Given the description of an element on the screen output the (x, y) to click on. 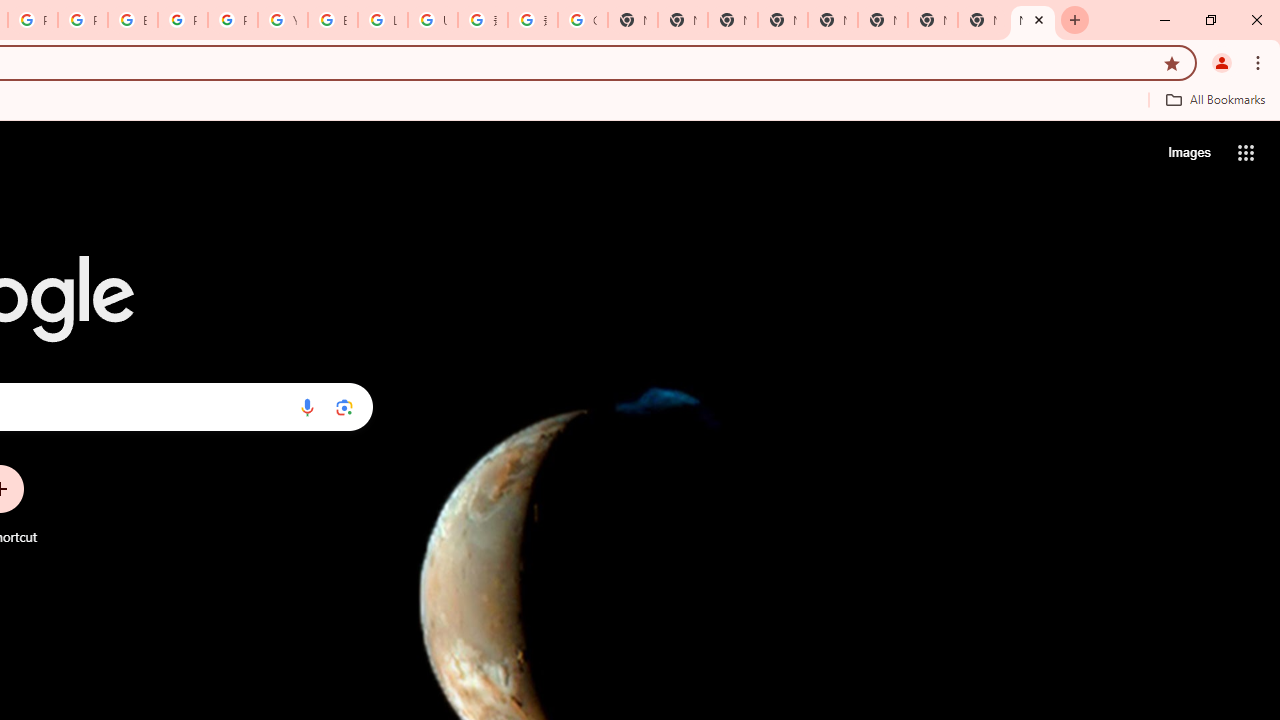
New Tab (1075, 20)
New Tab (1032, 20)
Restore (1210, 20)
Close (1039, 19)
Privacy Help Center - Policies Help (82, 20)
You (1221, 62)
All Bookmarks (1215, 99)
Bookmark this tab (1171, 62)
New Tab (782, 20)
